Given the description of an element on the screen output the (x, y) to click on. 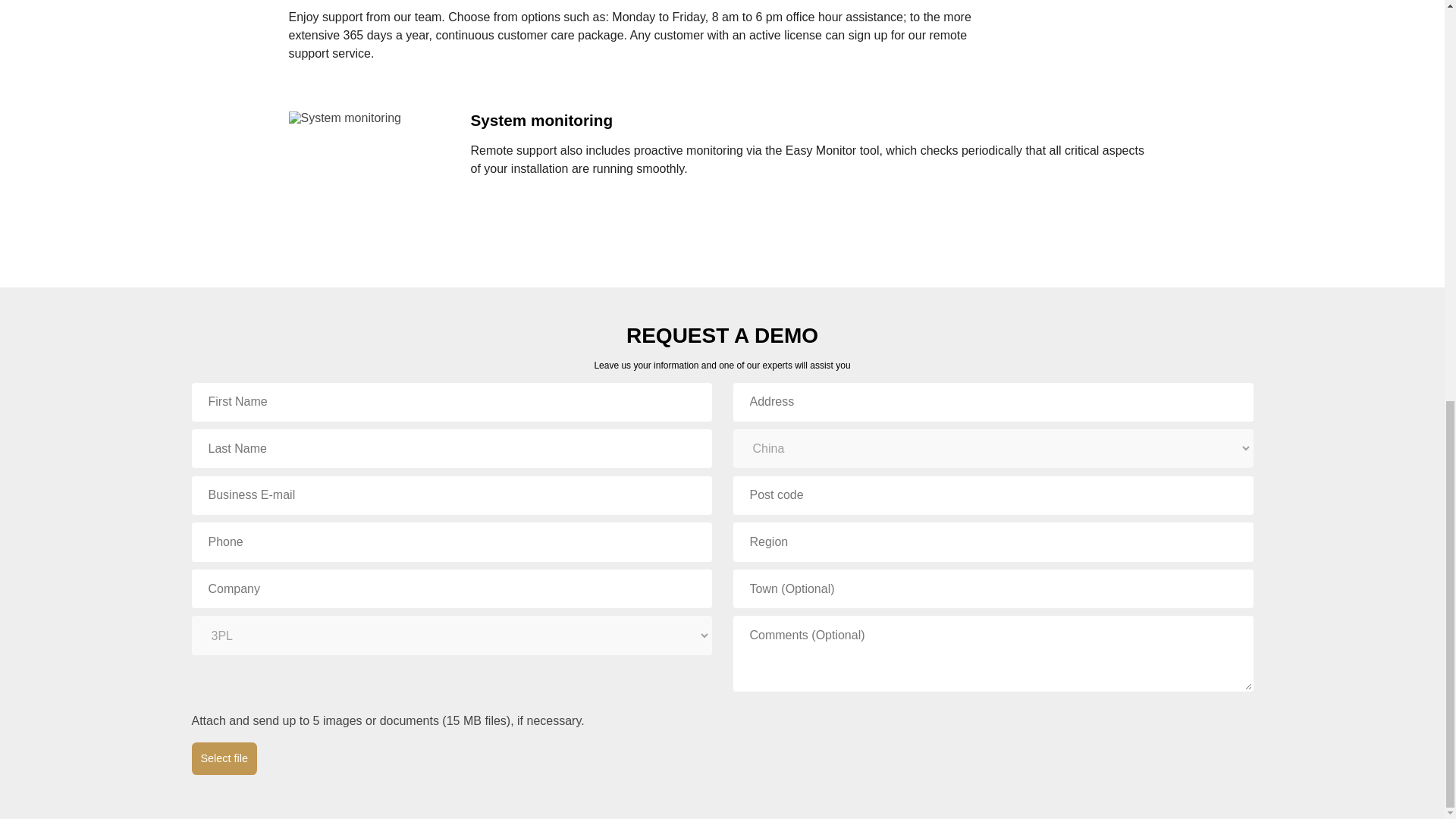
Select file (223, 758)
